Given the description of an element on the screen output the (x, y) to click on. 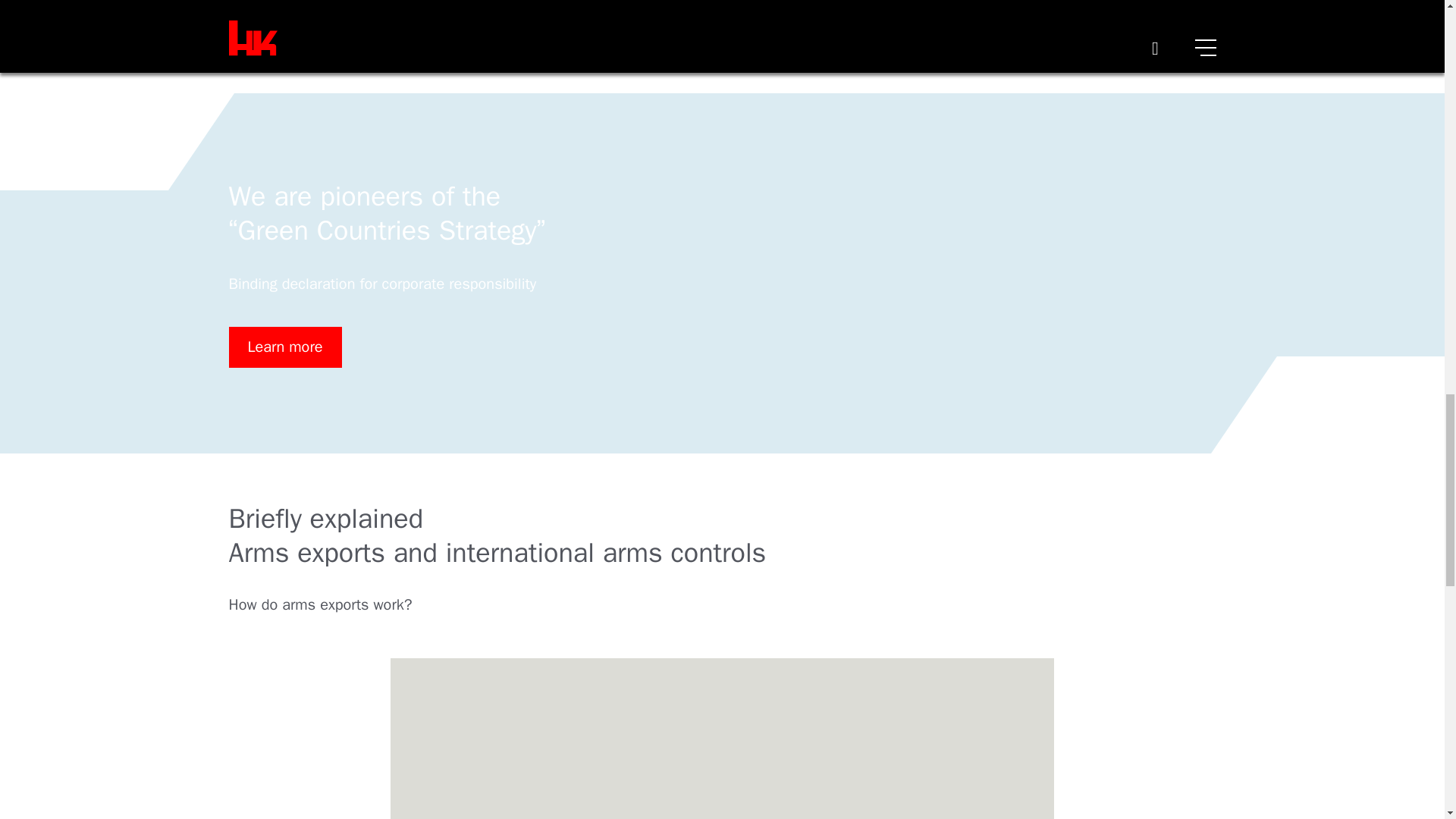
The Wassenaar Arrangement (324, 37)
Learn more (285, 346)
The Arms Trade Treaty (302, 13)
